Given the description of an element on the screen output the (x, y) to click on. 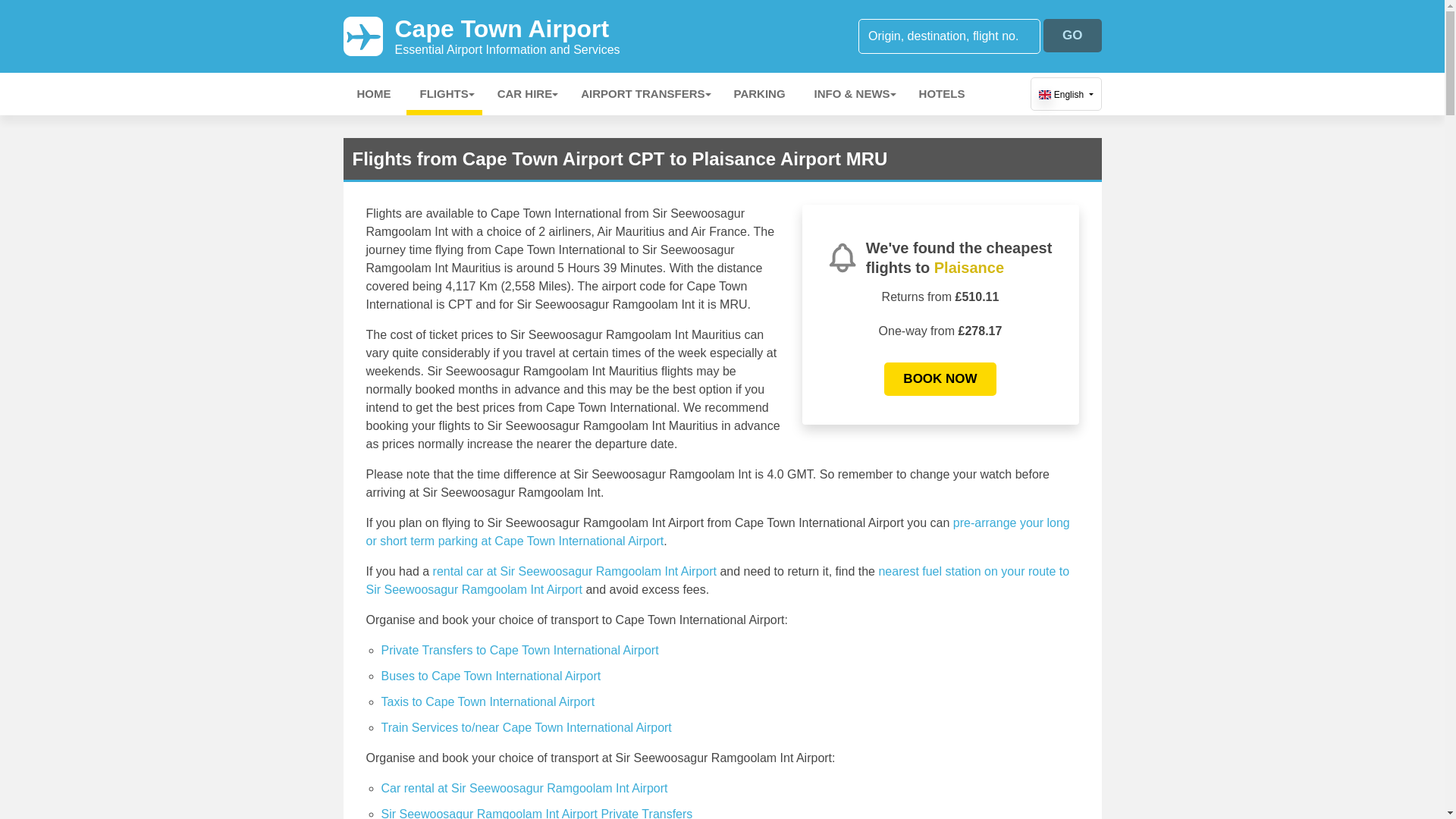
PARKING (759, 93)
CAR HIRE (524, 93)
GO (1071, 35)
AIRPORT TRANSFERS (642, 93)
FLIGHTS (507, 36)
HOME (443, 93)
